Given the description of an element on the screen output the (x, y) to click on. 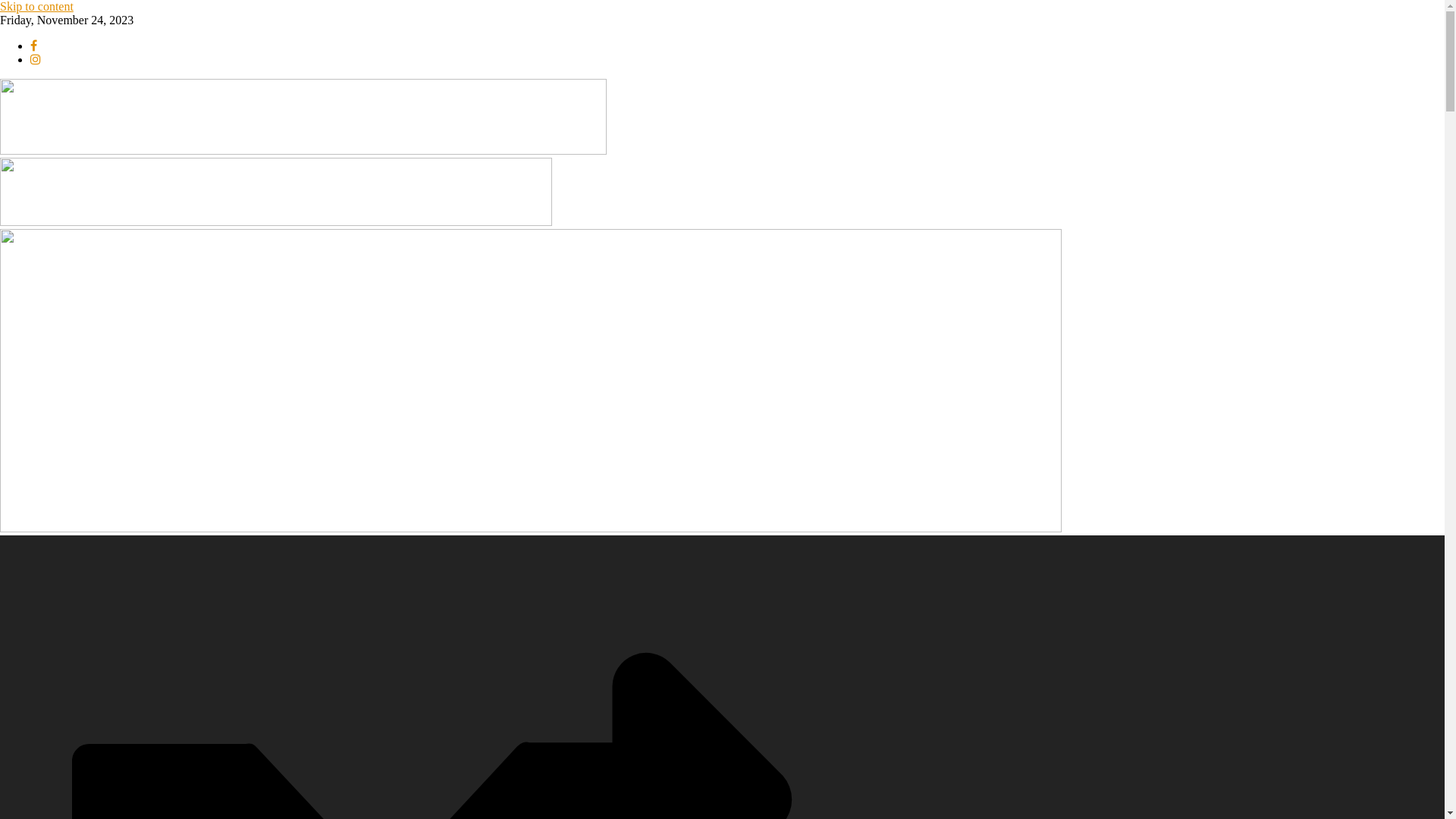
Skip to content Element type: text (36, 6)
